Given the description of an element on the screen output the (x, y) to click on. 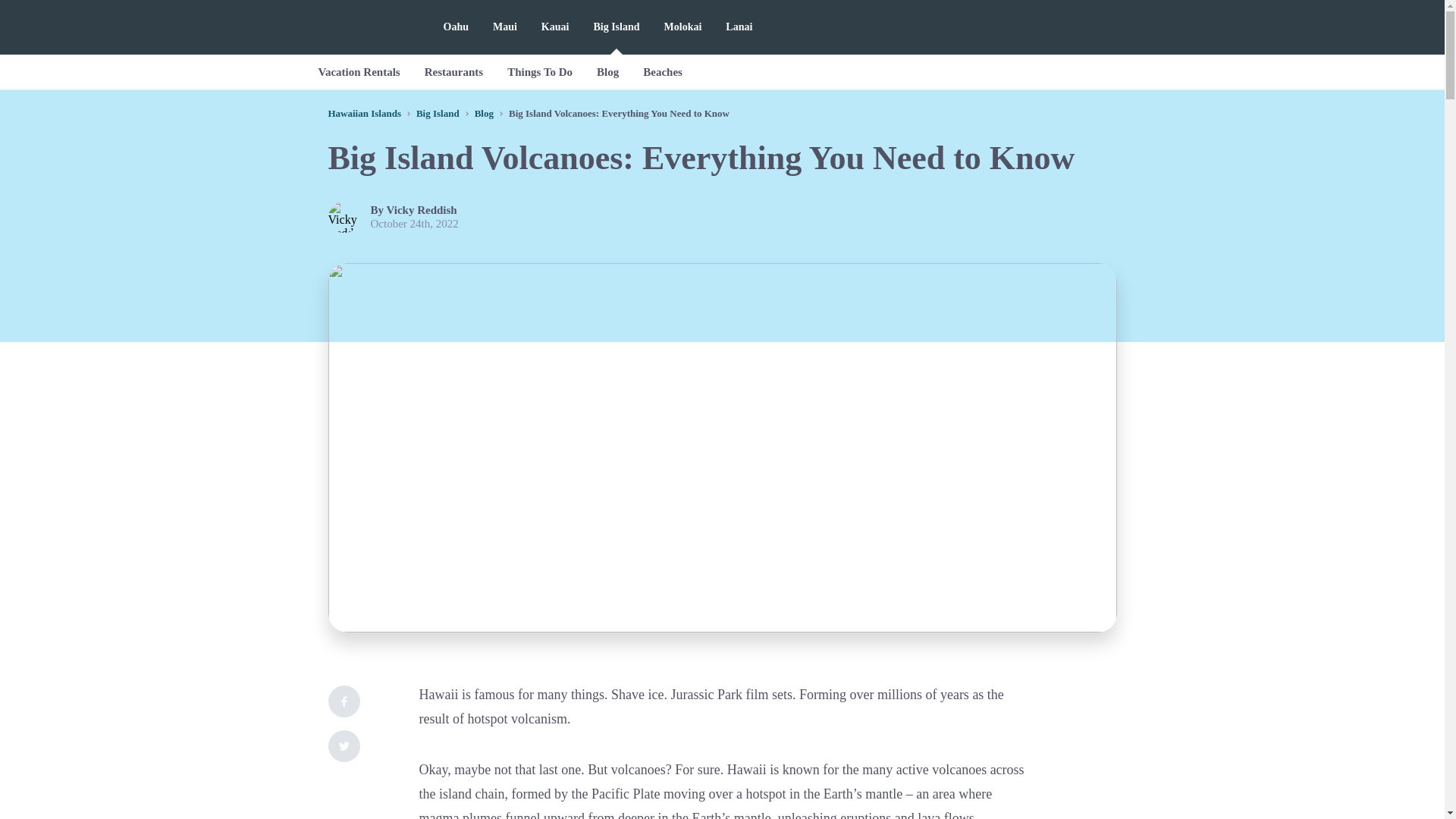
Things To Do (540, 71)
Big Island (438, 112)
Vacation Rentals (358, 71)
Blog (483, 112)
Hawaiian Islands (363, 112)
Vicky Reddish (422, 209)
Blog (607, 71)
Beaches (662, 71)
Restaurants (454, 71)
